Given the description of an element on the screen output the (x, y) to click on. 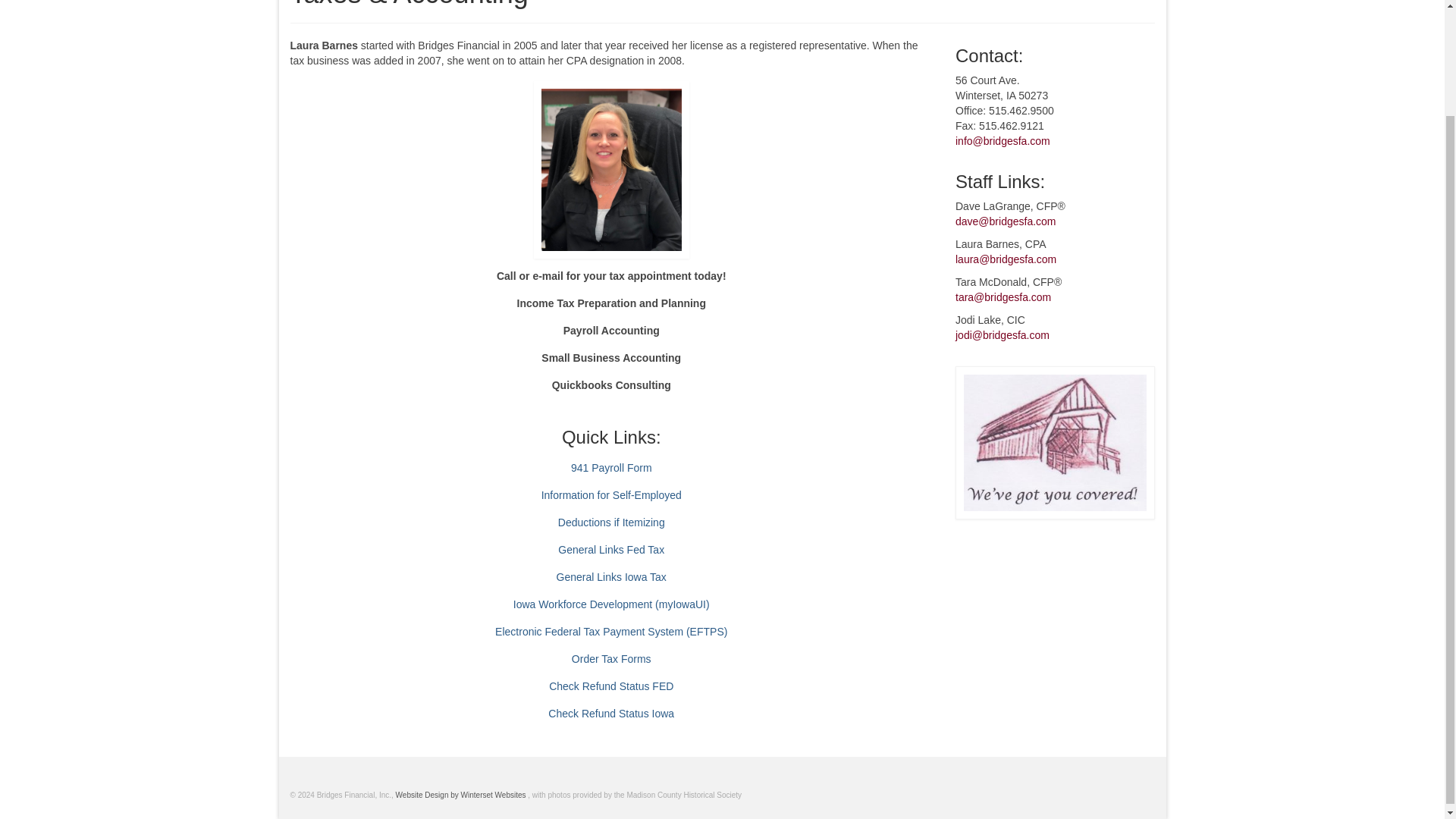
General Links Fed Tax (610, 549)
Order Tax Forms (611, 658)
Website Design by Winterset Websites (462, 795)
Check Refund Status Iowa (611, 713)
General Links Iowa Tax (611, 576)
941 Payroll Form (611, 467)
Check Refund Status FED (610, 686)
Deductions if Itemizing (611, 522)
Information for Self-Employed (611, 494)
